Given the description of an element on the screen output the (x, y) to click on. 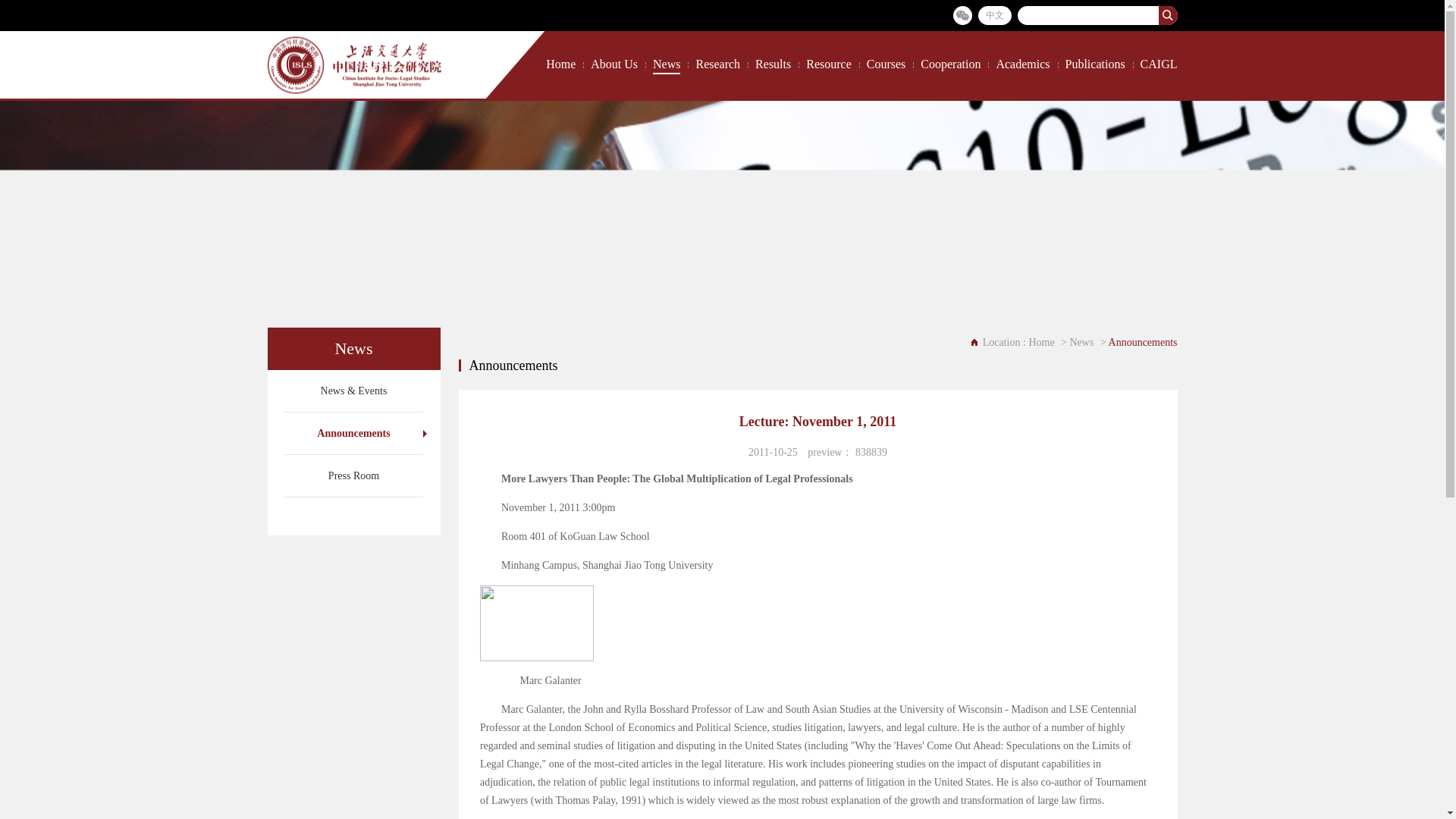
Courses (885, 64)
About Us (614, 64)
Resource (828, 64)
Courses (885, 64)
News (1082, 342)
About Us (614, 64)
Announcements (352, 433)
Research (717, 64)
Publications (1094, 64)
News (665, 64)
